Given the description of an element on the screen output the (x, y) to click on. 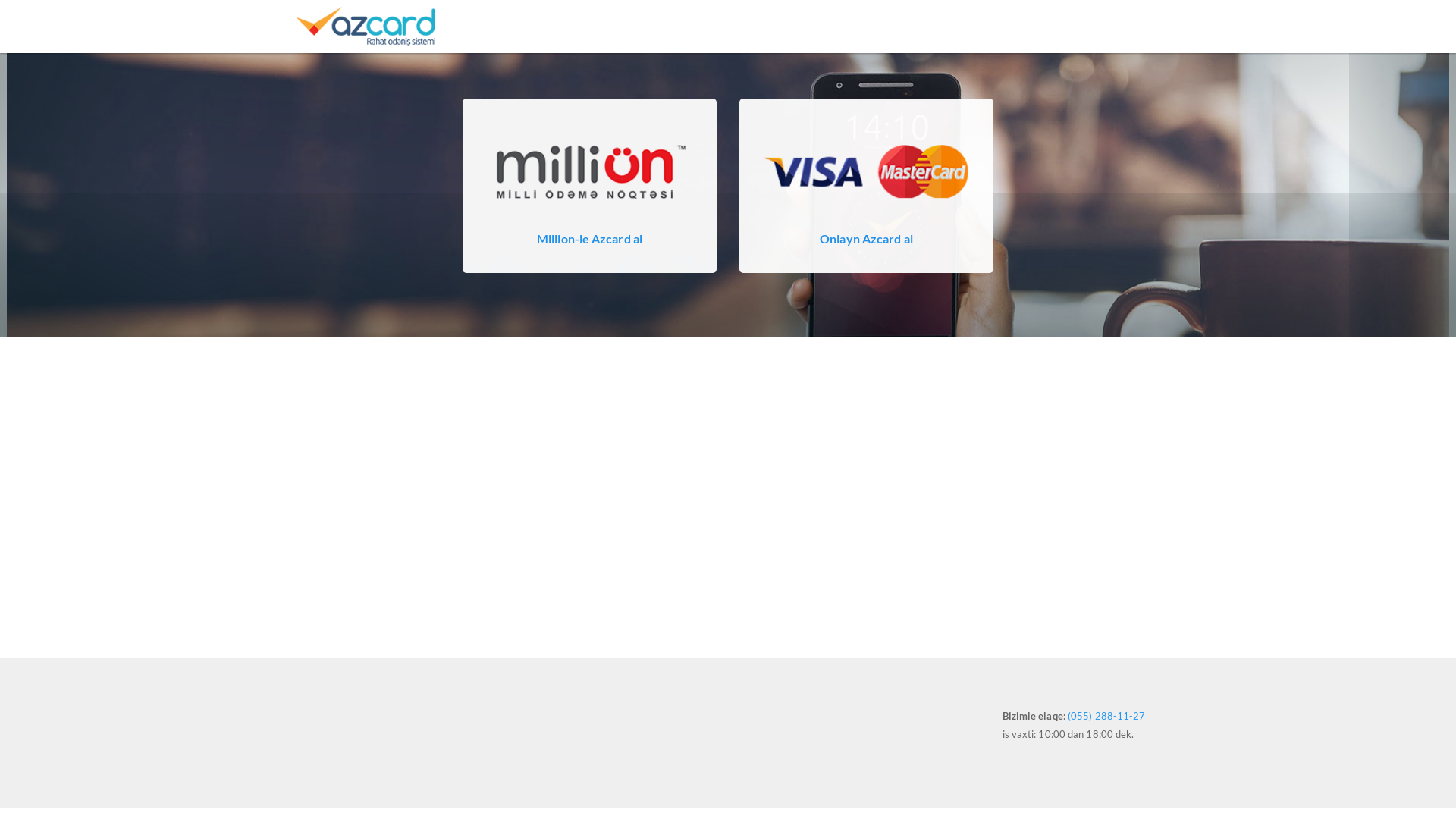
(055) 288-11-27 Element type: text (1106, 715)
Million-le Azcard al Element type: text (589, 238)
Onlayn Azcard al Element type: text (866, 238)
